Given the description of an element on the screen output the (x, y) to click on. 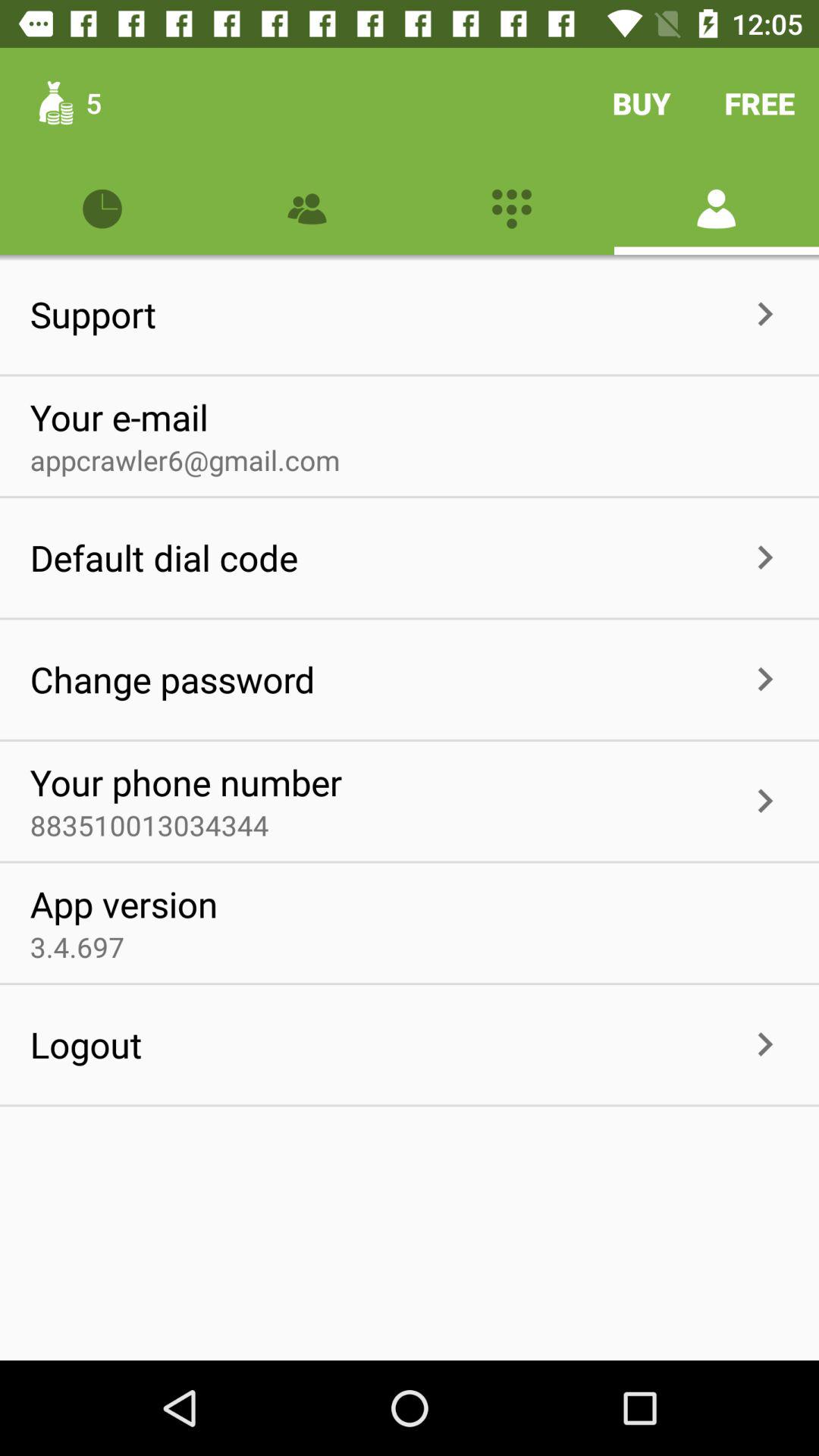
turn on app version (123, 903)
